Given the description of an element on the screen output the (x, y) to click on. 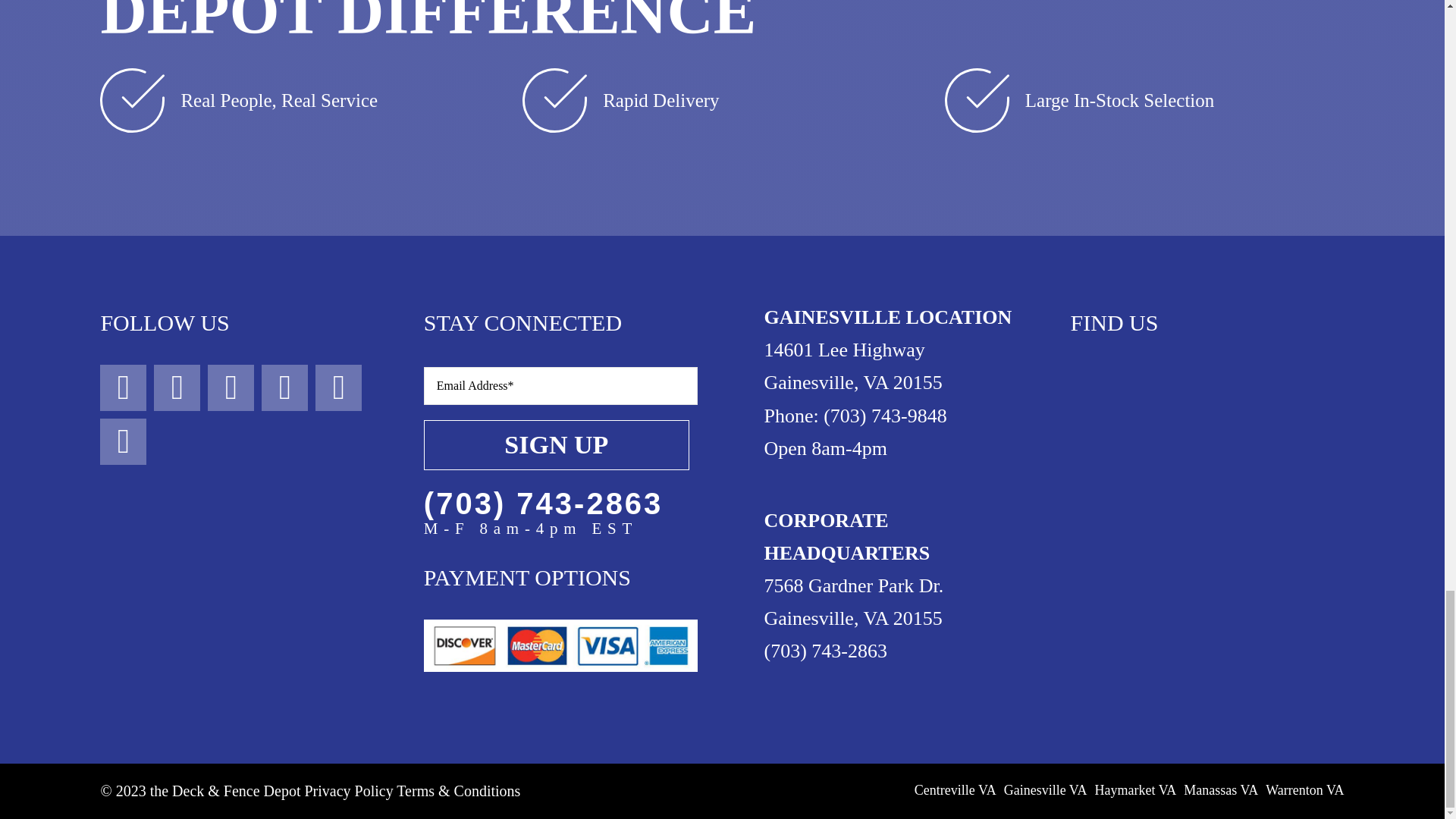
SIGN UP (560, 424)
Twitter (230, 387)
4CCImage (560, 645)
Instagram (177, 387)
Pinterest (338, 387)
Tiktok (284, 387)
Facebook (123, 387)
LinkedIn (123, 441)
